Given the description of an element on the screen output the (x, y) to click on. 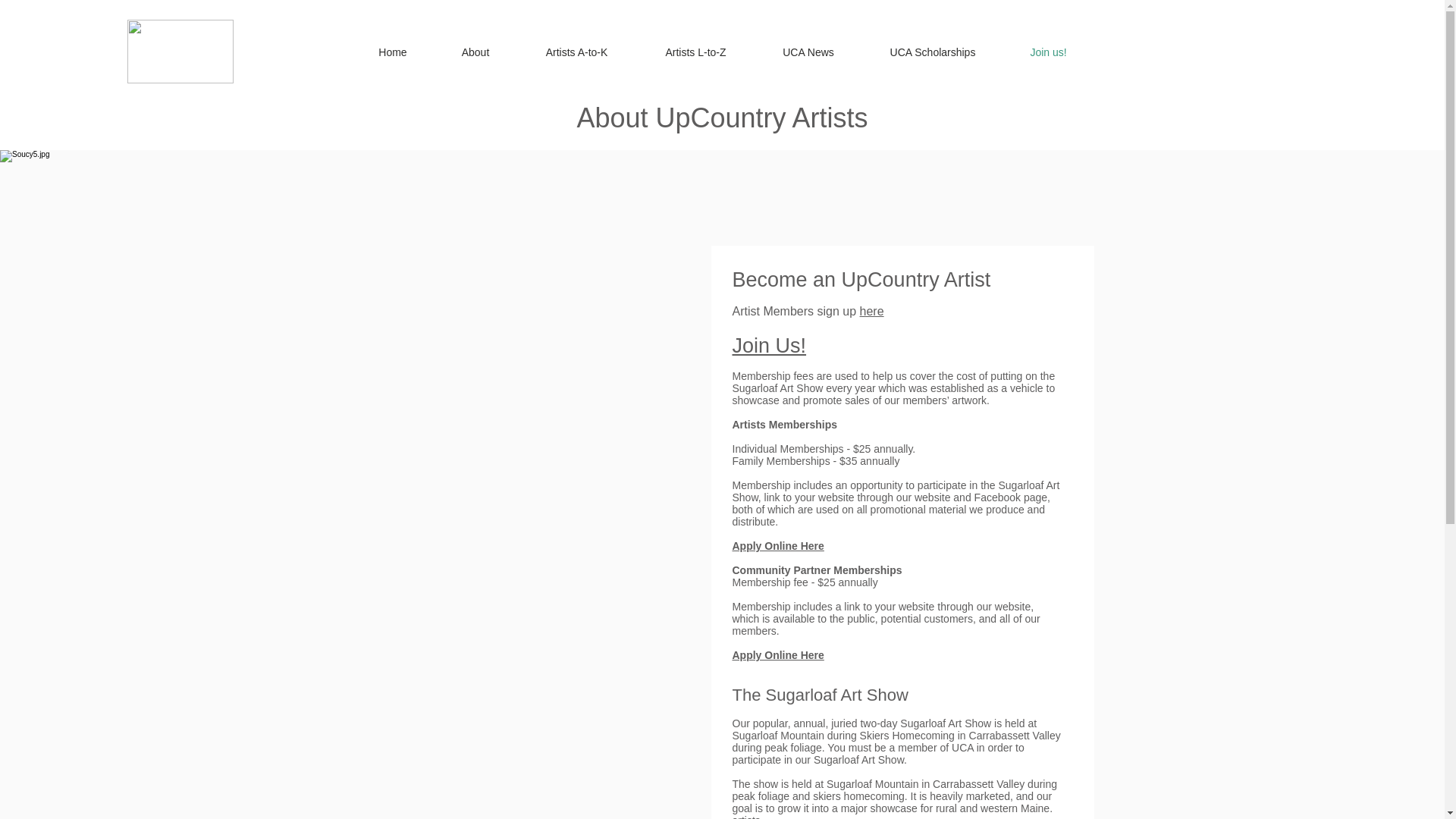
Home (392, 51)
About (474, 51)
